Given the description of an element on the screen output the (x, y) to click on. 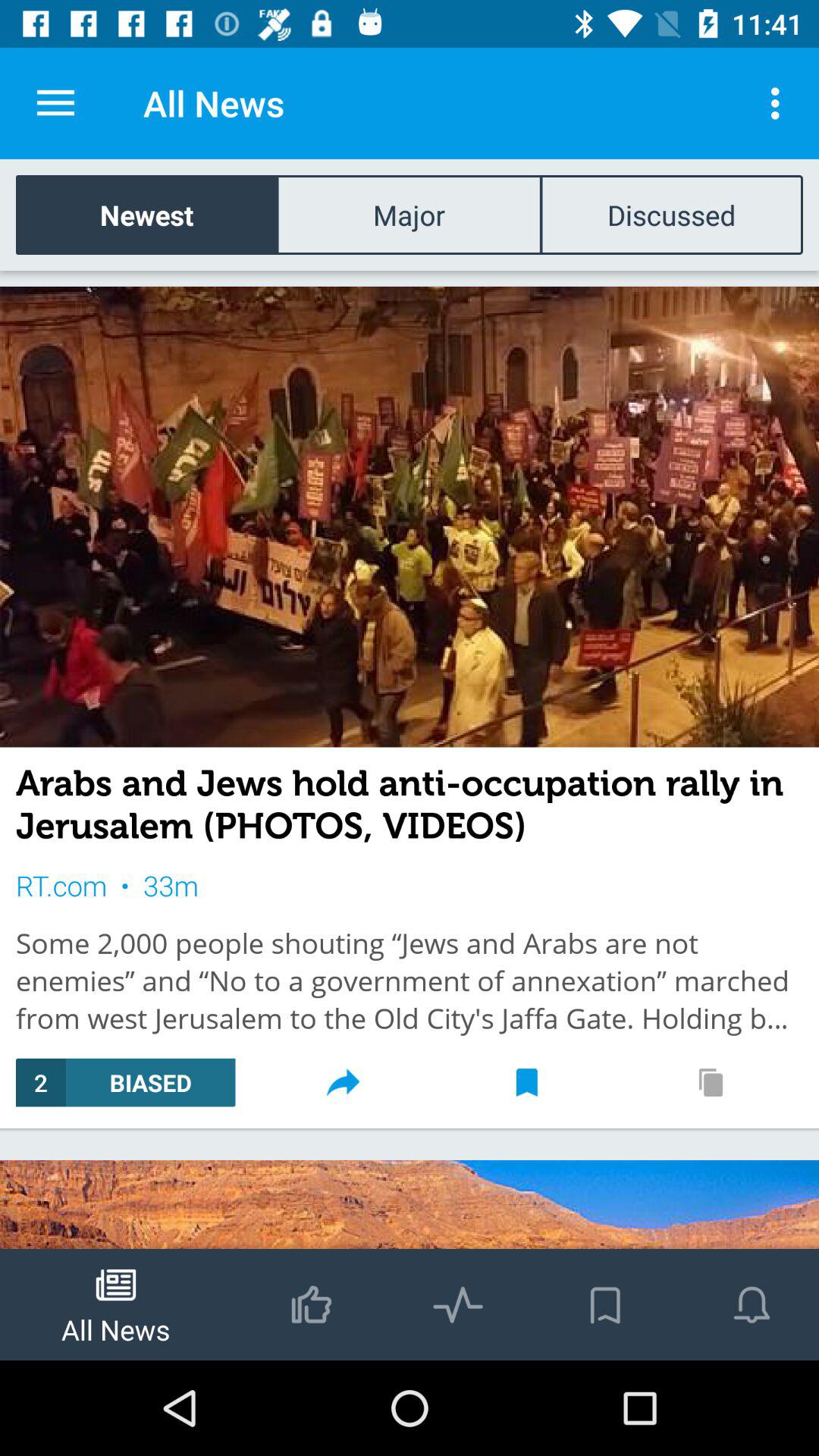
select newest item (146, 214)
